Given the description of an element on the screen output the (x, y) to click on. 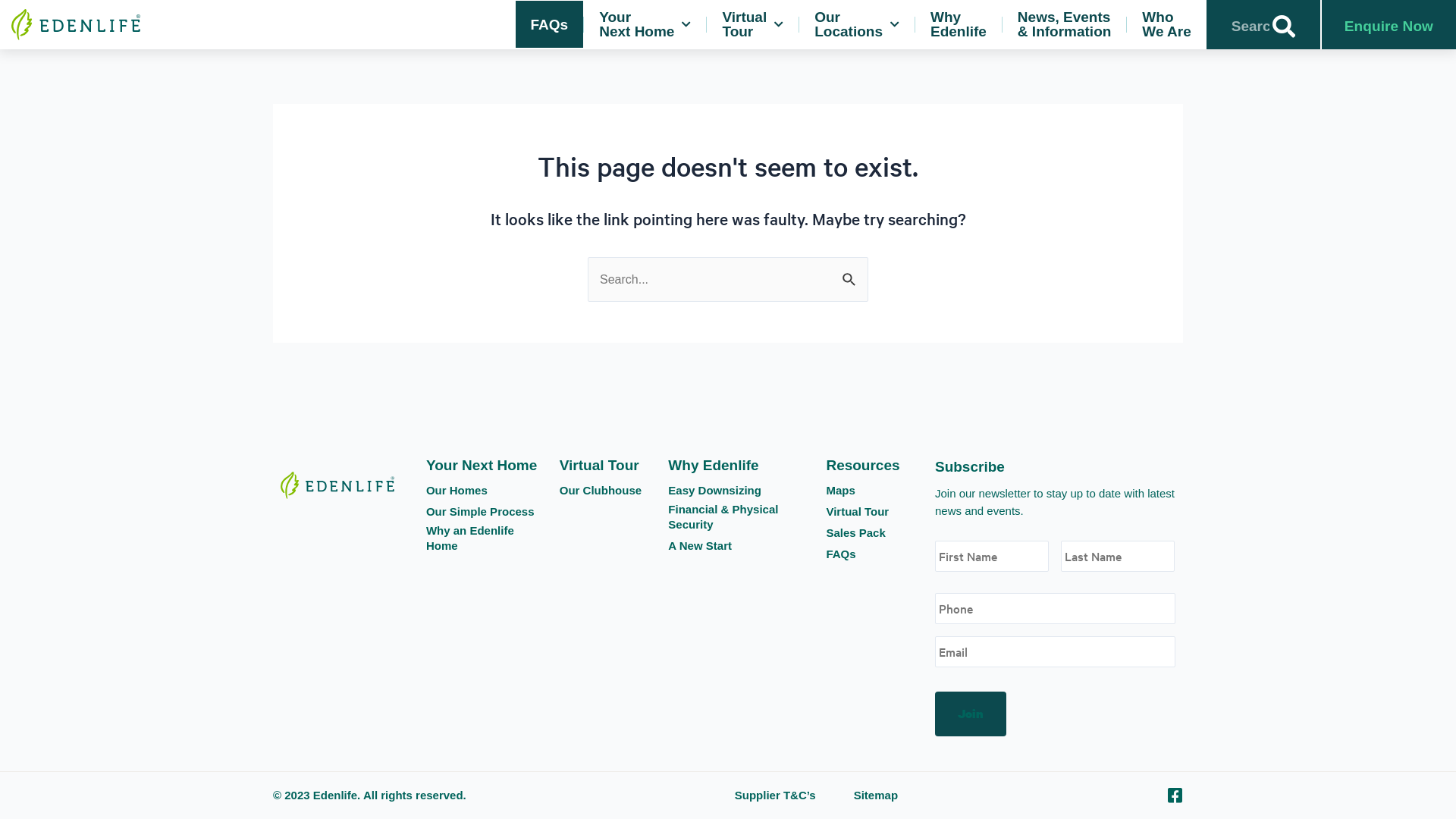
FAQs Element type: text (840, 553)
Resources Element type: text (862, 465)
Join Element type: text (970, 713)
News, Events
& Information Element type: text (1064, 23)
Facebook-square Element type: text (1174, 795)
Our Homes Element type: text (456, 490)
Your Next Home Element type: text (481, 465)
Your
Next Home Element type: text (644, 23)
Easy Downsizing Element type: text (714, 490)
Search Element type: text (851, 277)
Why
Edenlife Element type: text (958, 23)
Sales Pack Element type: text (854, 532)
Maps Element type: text (839, 490)
Who
We Are Element type: text (1165, 23)
Our Clubhouse Element type: text (600, 490)
Our Simple Process Element type: text (480, 511)
Sitemap Element type: text (875, 795)
Why an Edenlife Home Element type: text (485, 538)
Financial & Physical Security Element type: text (739, 517)
Virtual Tour Element type: text (599, 465)
Virtual Tour Element type: text (856, 511)
FAQs Element type: text (549, 23)
Why Edenlife Element type: text (713, 465)
A New Start Element type: text (699, 545)
Our
Locations Element type: text (856, 23)
Virtual
Tour Element type: text (752, 23)
Search Element type: text (1283, 26)
